Given the description of an element on the screen output the (x, y) to click on. 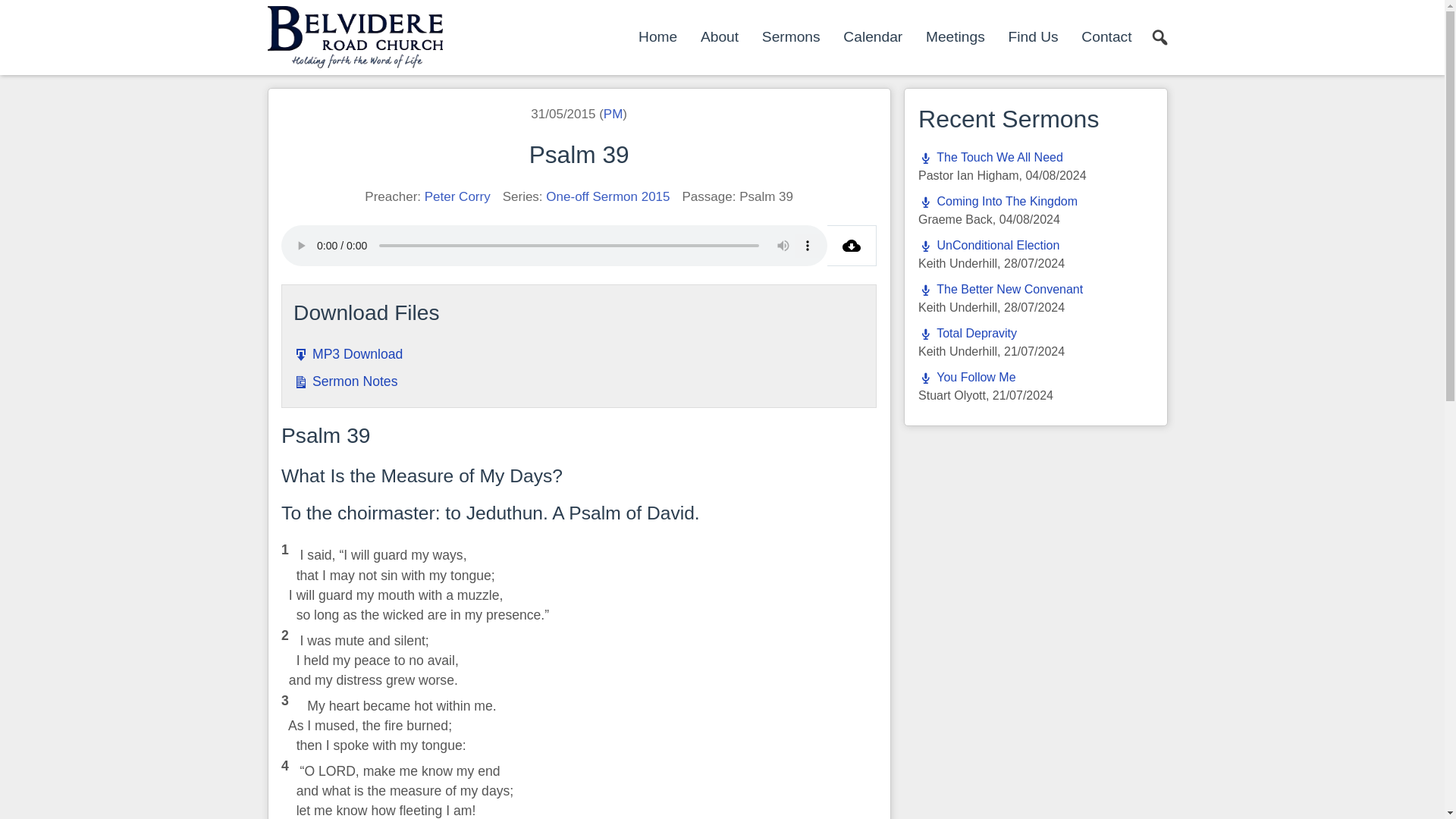
One-off Sermon 2015 (607, 196)
Search site (1159, 37)
You Follow Me (967, 377)
The Touch We All Need (990, 156)
Peter Corry (457, 196)
PM (613, 114)
Home (658, 36)
Contact (1106, 36)
Meetings (955, 36)
UnConditional Election (988, 245)
Download Audio File (851, 245)
Total Depravity (967, 332)
About (719, 36)
Coming Into The Kingdom (997, 201)
Sermons (791, 36)
